Given the description of an element on the screen output the (x, y) to click on. 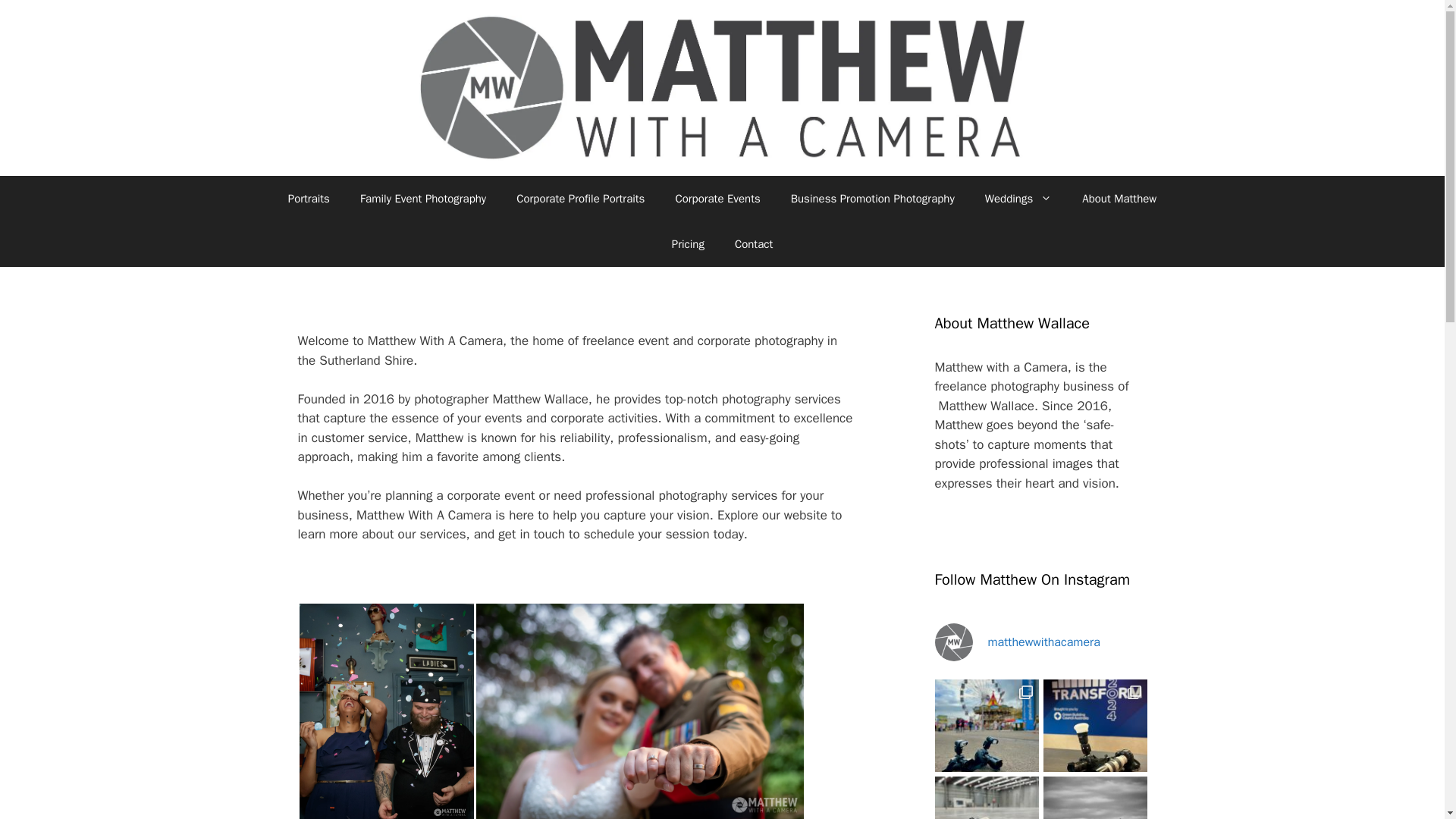
Corporate Events (716, 198)
Contact (753, 243)
Portraits (309, 198)
Family Event Photography (422, 198)
Weddings (1018, 198)
Business Promotion Photography (872, 198)
Corporate Profile Portraits (579, 198)
About Matthew (1119, 198)
Pricing (687, 243)
matthewwithacamera (1040, 641)
